Given the description of an element on the screen output the (x, y) to click on. 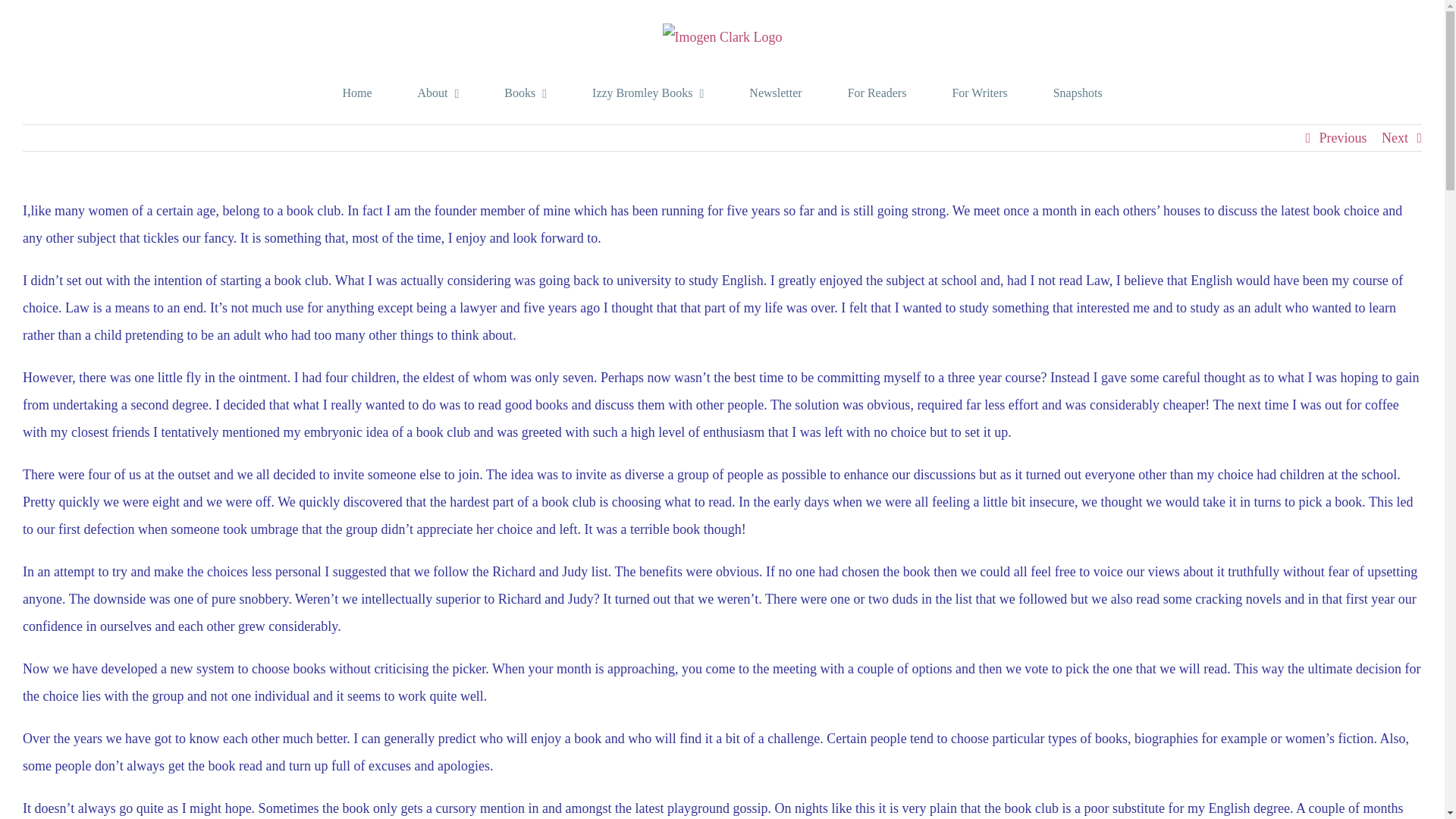
Books (525, 92)
For Readers (877, 92)
For Writers (979, 92)
Snapshots (1077, 92)
Newsletter (775, 92)
Izzy Bromley Books (647, 92)
Home (356, 92)
About (437, 92)
